Given the description of an element on the screen output the (x, y) to click on. 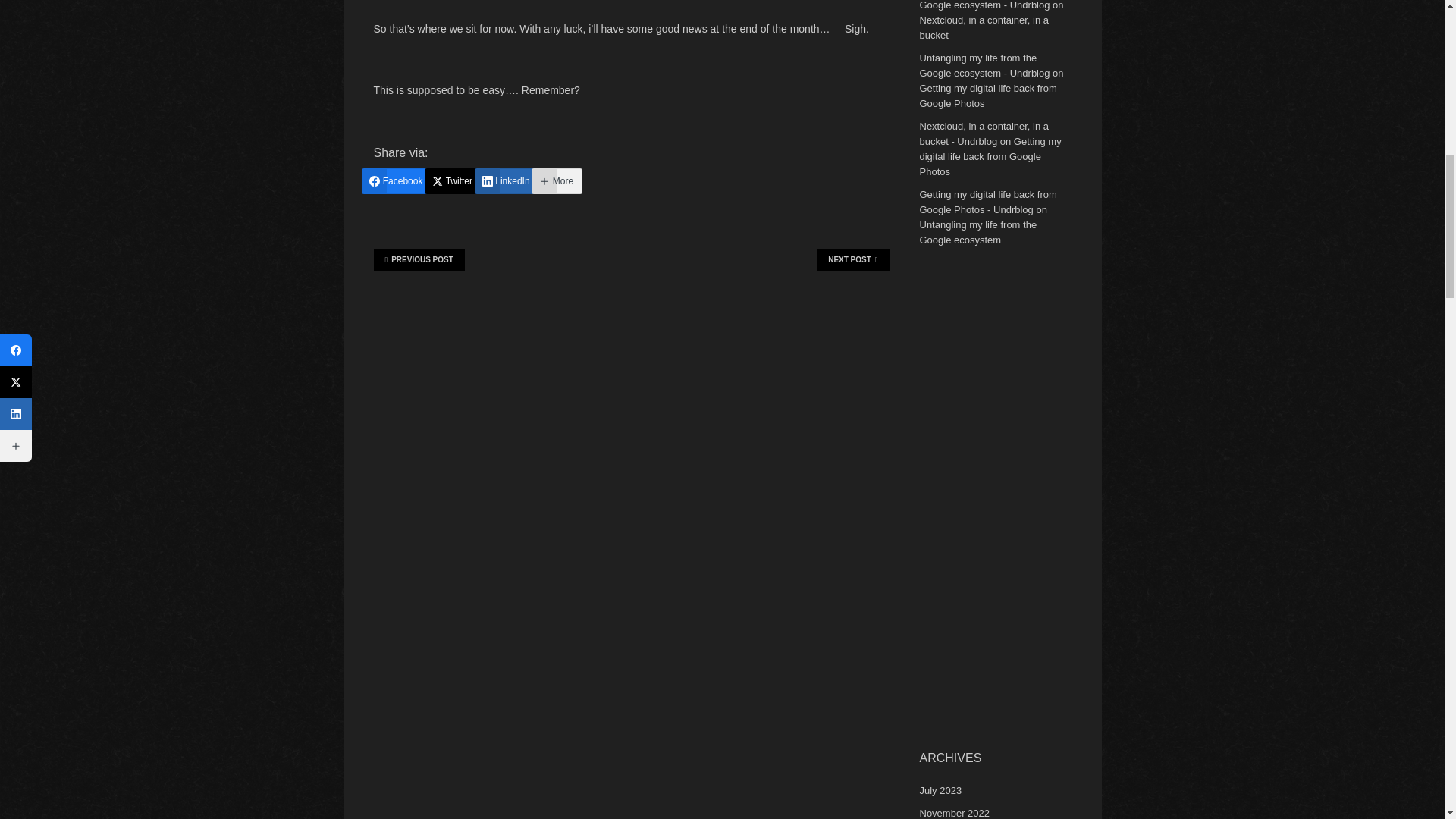
July 2023 (939, 790)
Facebook (395, 181)
Getting my digital life back from Google Photos (987, 95)
Twitter (453, 181)
PREVIOUS POST (418, 259)
More (556, 181)
NEXT POST (852, 259)
Getting my digital life back from Google Photos (989, 156)
Nextcloud, in a container, in a bucket (983, 27)
LinkedIn (506, 181)
